Given the description of an element on the screen output the (x, y) to click on. 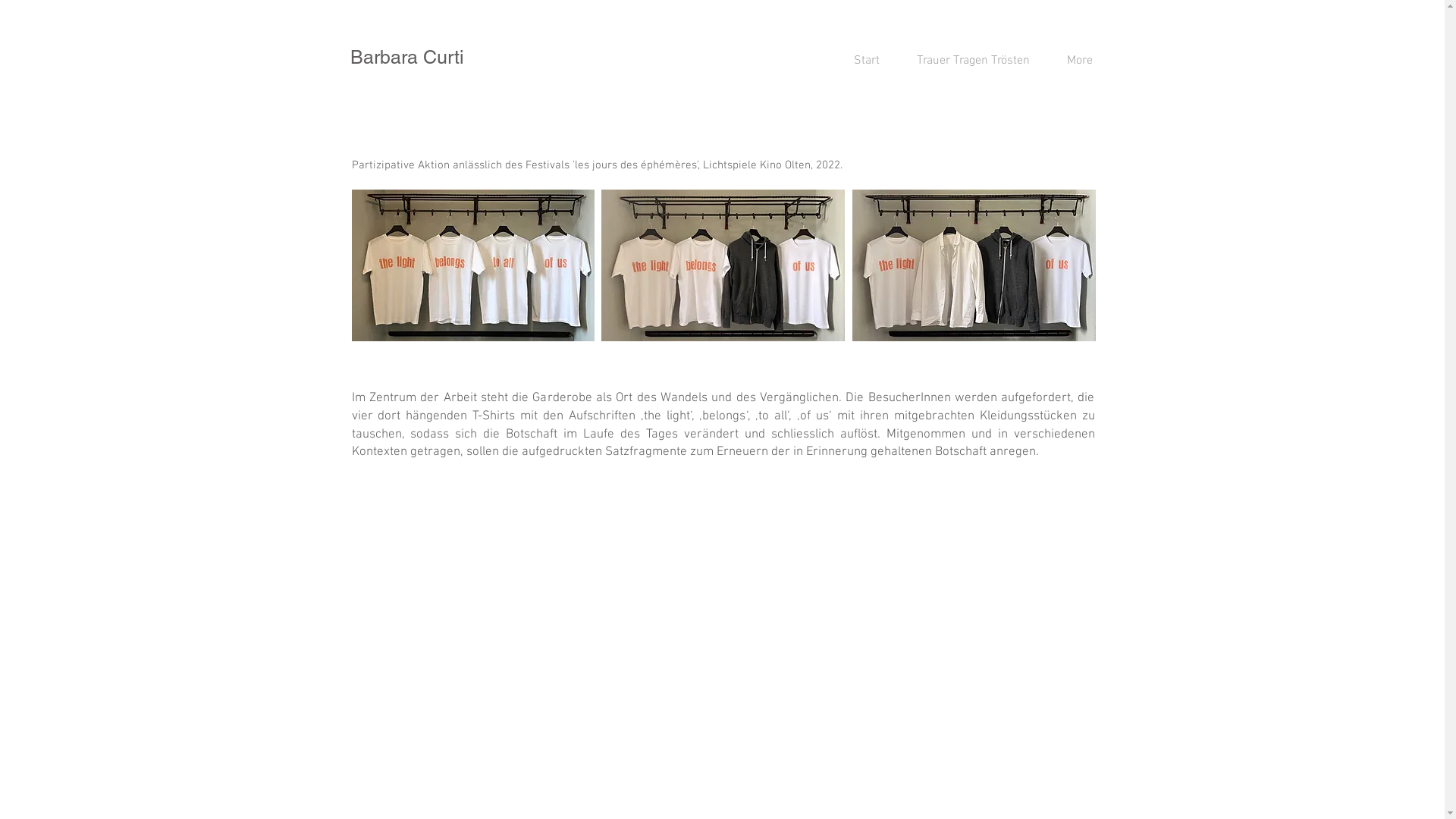
Barbara Curti Element type: text (407, 57)
Start Element type: text (859, 61)
